Given the description of an element on the screen output the (x, y) to click on. 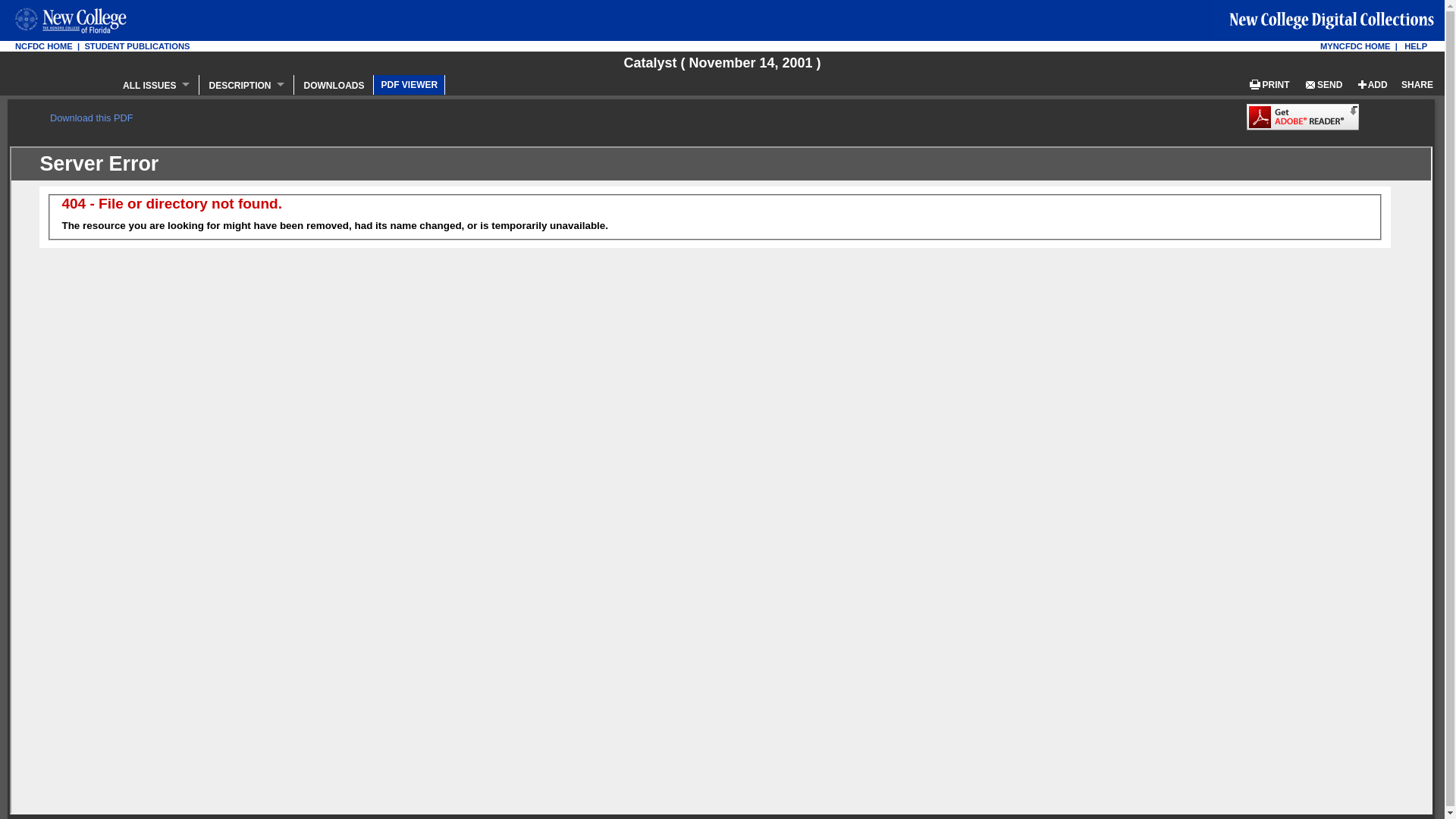
ALL ISSUES (156, 84)
HELP (1415, 45)
MYNCFDC HOME (1355, 45)
STUDENT PUBLICATIONS (136, 45)
NCFDC HOME (43, 45)
DOWNLOADS (334, 84)
Download this PDF (91, 117)
DESCRIPTION (246, 84)
